Given the description of an element on the screen output the (x, y) to click on. 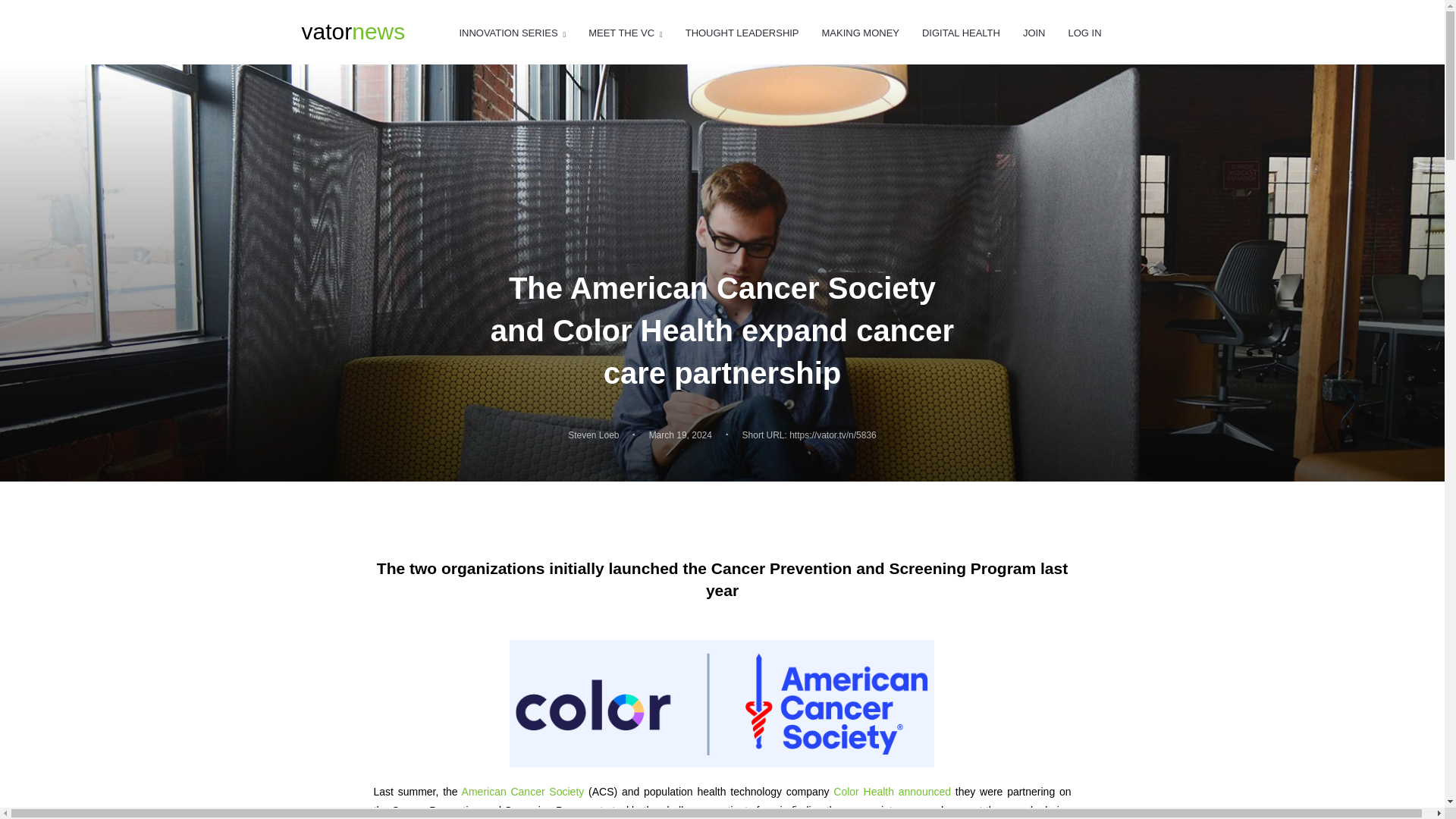
LOG IN (1083, 33)
Steven Loeb (592, 434)
American Cancer Society (523, 791)
DIGITAL HEALTH (960, 33)
announced (924, 791)
MEET THE VC (625, 33)
THOUGHT LEADERSHIP (742, 33)
INNOVATION SERIES (512, 33)
MAKING MONEY (860, 33)
Color Health (862, 791)
